Given the description of an element on the screen output the (x, y) to click on. 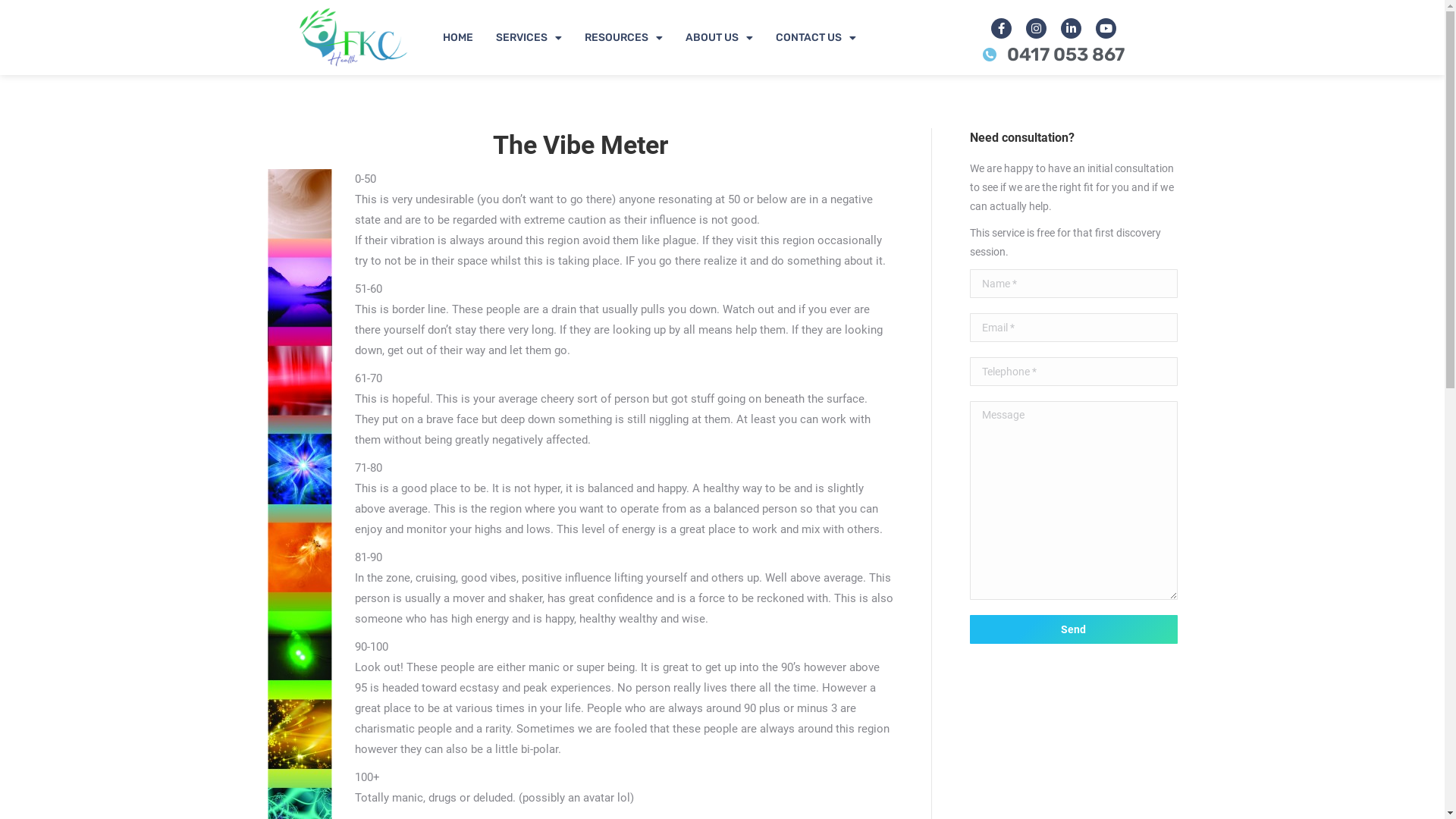
ABOUT US Element type: text (718, 37)
SERVICES Element type: text (527, 37)
RESOURCES Element type: text (623, 37)
CONTACT US Element type: text (815, 37)
HOME Element type: text (456, 37)
0417 053 867 Element type: text (1053, 54)
Send Element type: text (1072, 629)
